Given the description of an element on the screen output the (x, y) to click on. 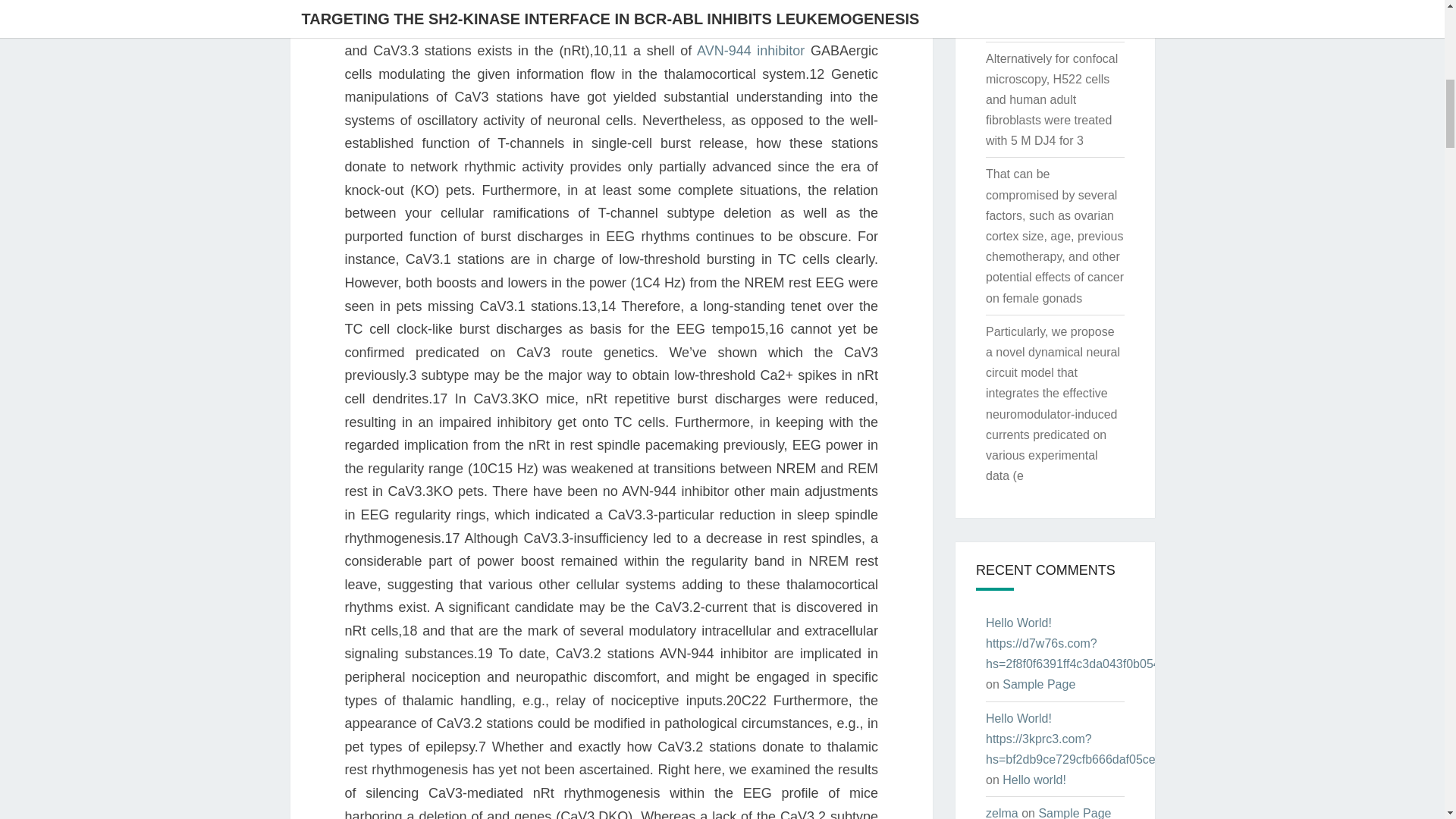
Sample Page (1039, 684)
zelma (1001, 812)
Sample Page (1074, 812)
AVN-944 inhibitor (751, 50)
Hello world! (1034, 779)
